Given the description of an element on the screen output the (x, y) to click on. 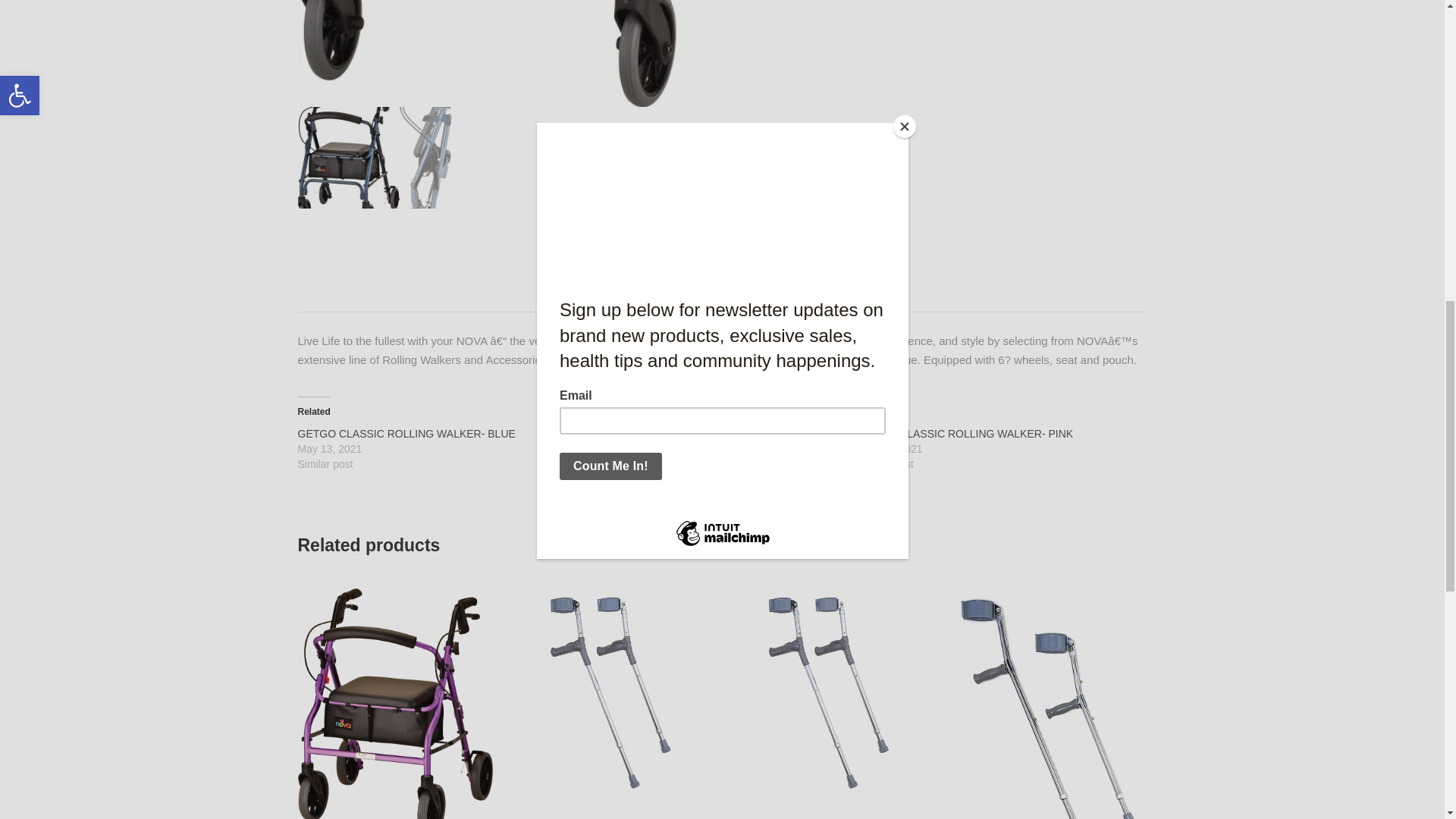
7740P.jpg (831, 691)
GETGO CLASSIC ROLLING WALKER- BLUE (406, 433)
GETGO CLASSIC ROLLING WALKER- GREEN (692, 433)
GETGO CLASSIC ROLLING WALKER- PINK (966, 433)
4208CBL MAIN (548, 53)
7741P.jpg (613, 691)
